Given the description of an element on the screen output the (x, y) to click on. 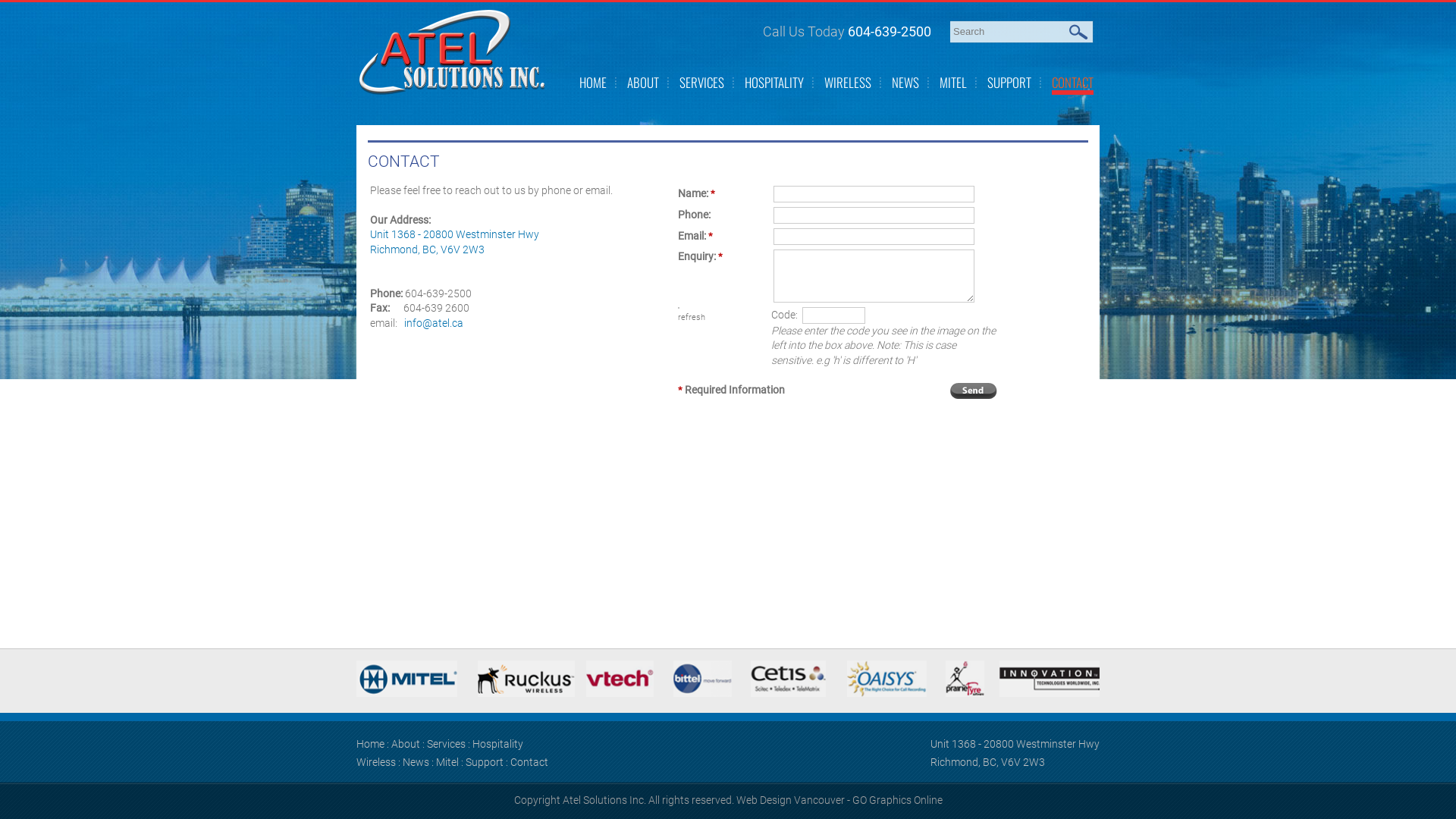
Go Element type: text (1079, 31)
Support Element type: text (484, 762)
News Element type: text (415, 762)
Unit 1368 - 20800 Westminster Hwy
Richmond, BC, V6V 2W3 Element type: text (454, 241)
CONTACT Element type: text (1072, 81)
Hospitality Element type: text (497, 743)
HOSPITALITY Element type: text (773, 81)
WIRELESS Element type: text (847, 81)
Contact Element type: text (529, 762)
SUPPORT Element type: text (1009, 81)
info@atel.ca Element type: text (433, 322)
Mitel Element type: text (447, 762)
Home Element type: text (370, 743)
SERVICES Element type: text (701, 81)
Wireless Element type: text (375, 762)
Services Element type: text (445, 743)
HOME Element type: text (592, 81)
Web Design Vancouver Element type: text (789, 799)
MITEL Element type: text (952, 81)
Unit 1368 - 20800 Westminster Hwy
Richmond, BC, V6V 2W3 Element type: text (1014, 752)
Atel Solutions Inc. Element type: text (452, 50)
About Element type: text (405, 743)
refresh Element type: text (691, 317)
ABOUT Element type: text (642, 81)
NEWS Element type: text (905, 81)
